Given the description of an element on the screen output the (x, y) to click on. 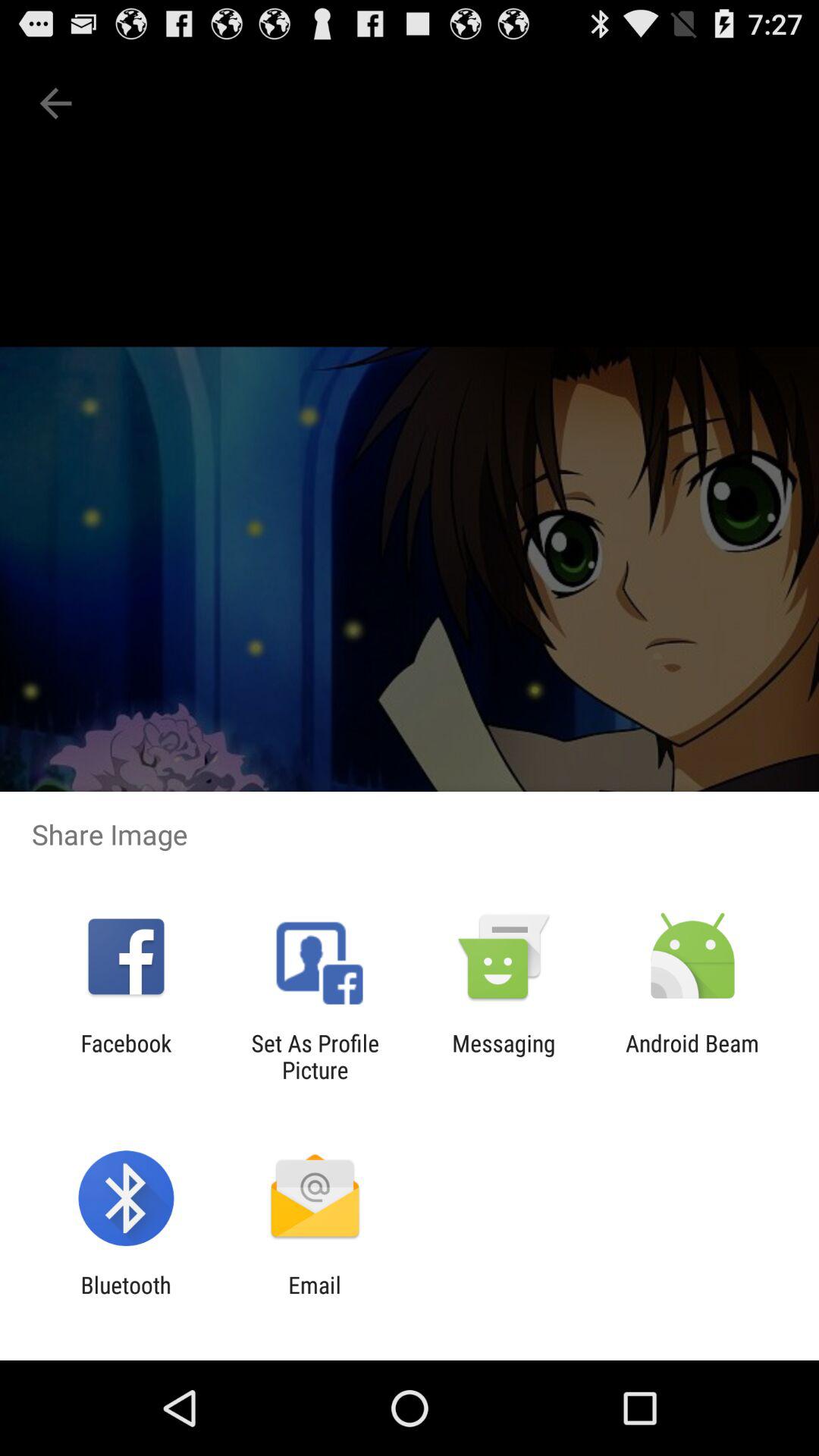
turn off app next to bluetooth item (314, 1298)
